Given the description of an element on the screen output the (x, y) to click on. 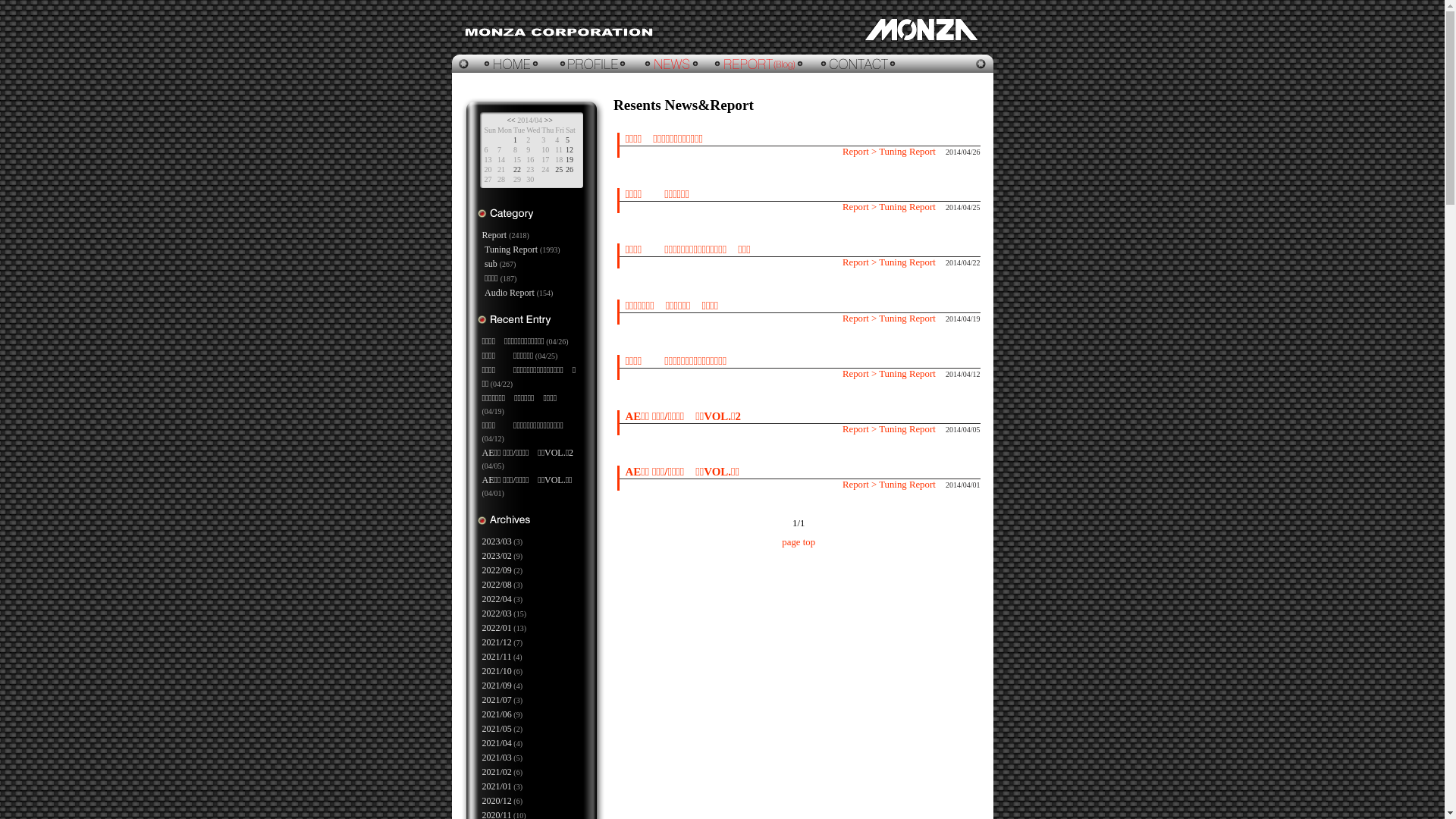
2022/01 Element type: text (496, 627)
2021/11 Element type: text (496, 656)
REPORT(Blog) Element type: hover (759, 63)
Report > Tuning Report Element type: text (888, 262)
2022/09 Element type: text (496, 569)
Report > Tuning Report Element type: text (888, 206)
Tuning Report Element type: text (510, 249)
2021/05 Element type: text (496, 728)
HOME Element type: hover (500, 63)
12 Element type: text (569, 149)
2021/09 Element type: text (496, 685)
2021/04 Element type: text (496, 742)
Report Element type: text (494, 234)
sub Element type: text (490, 263)
2021/07 Element type: text (496, 699)
19 Element type: text (569, 159)
22 Element type: text (516, 169)
2020/12 Element type: text (496, 800)
page top Element type: text (798, 541)
26 Element type: text (569, 169)
2023/03 Element type: text (496, 541)
Report > Tuning Report Element type: text (888, 318)
Report > Tuning Report Element type: text (888, 484)
2021/01 Element type: text (496, 786)
2021/02 Element type: text (496, 771)
2022/04 Element type: text (496, 598)
>> Element type: text (548, 120)
2021/03 Element type: text (496, 757)
Audio Report Element type: text (509, 292)
2022/08 Element type: text (496, 584)
Report > Tuning Report Element type: text (888, 373)
2021/10 Element type: text (496, 670)
Report > Tuning Report Element type: text (888, 151)
1 Element type: text (515, 139)
2021/12 Element type: text (496, 642)
2021/06 Element type: text (496, 714)
2022/03 Element type: text (496, 613)
5 Element type: text (567, 139)
<< Element type: text (510, 120)
25 Element type: text (558, 169)
Report > Tuning Report Element type: text (888, 428)
2023/02 Element type: text (496, 555)
